Given the description of an element on the screen output the (x, y) to click on. 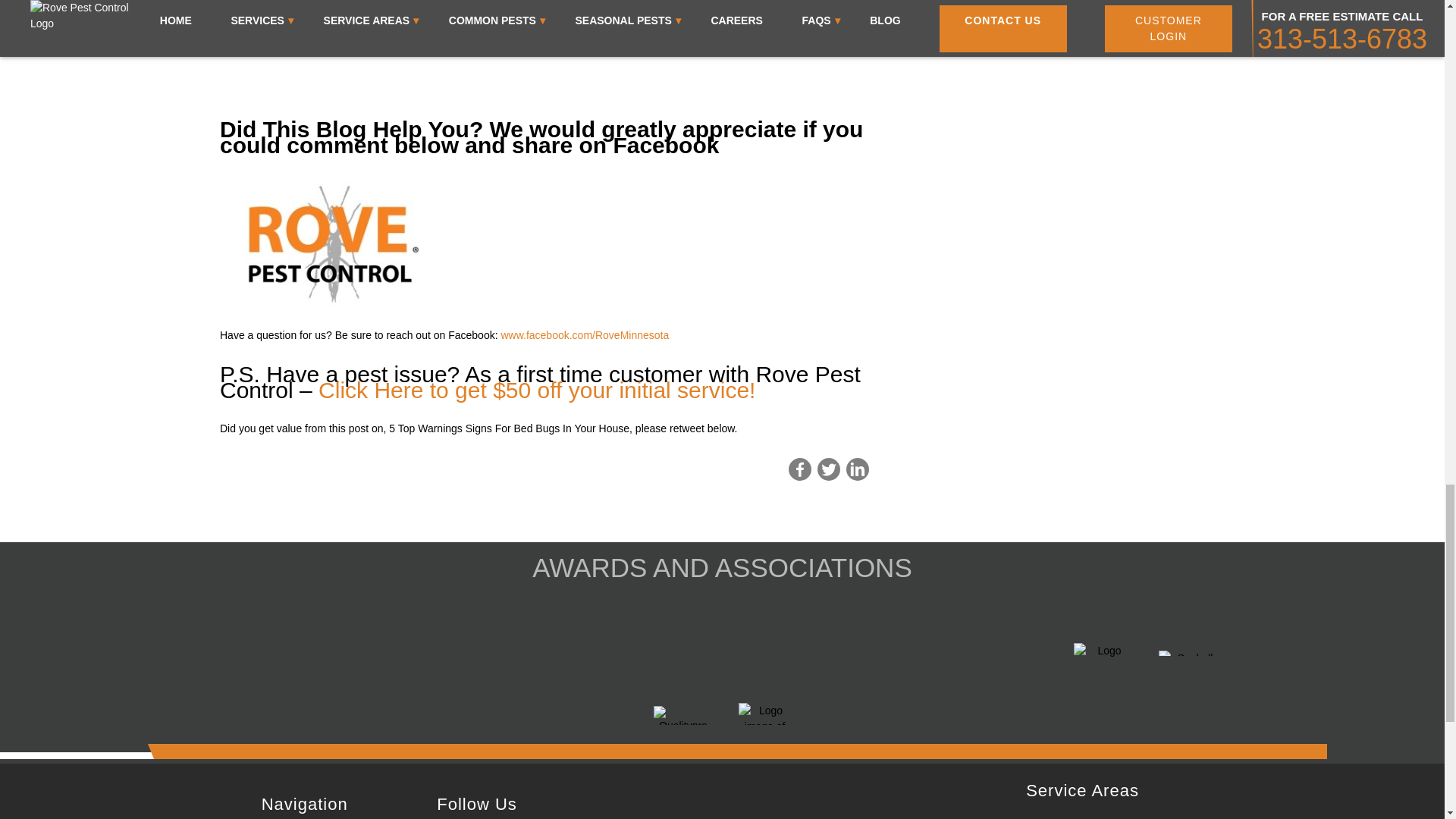
Share on Twitter (828, 468)
Share on Facebook (799, 468)
Share on LinkedIn (857, 468)
